Given the description of an element on the screen output the (x, y) to click on. 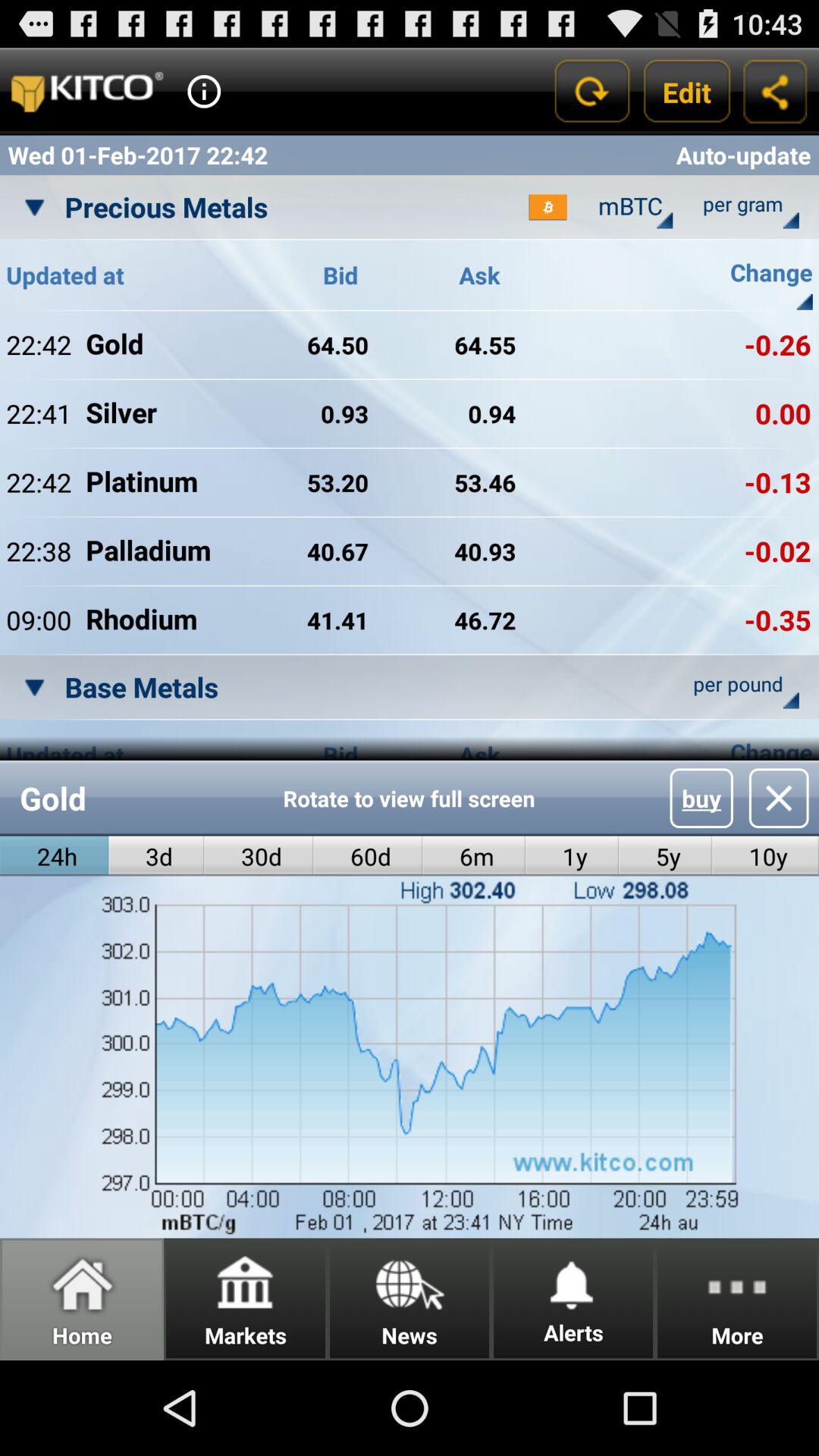
press 30d icon (258, 856)
